Given the description of an element on the screen output the (x, y) to click on. 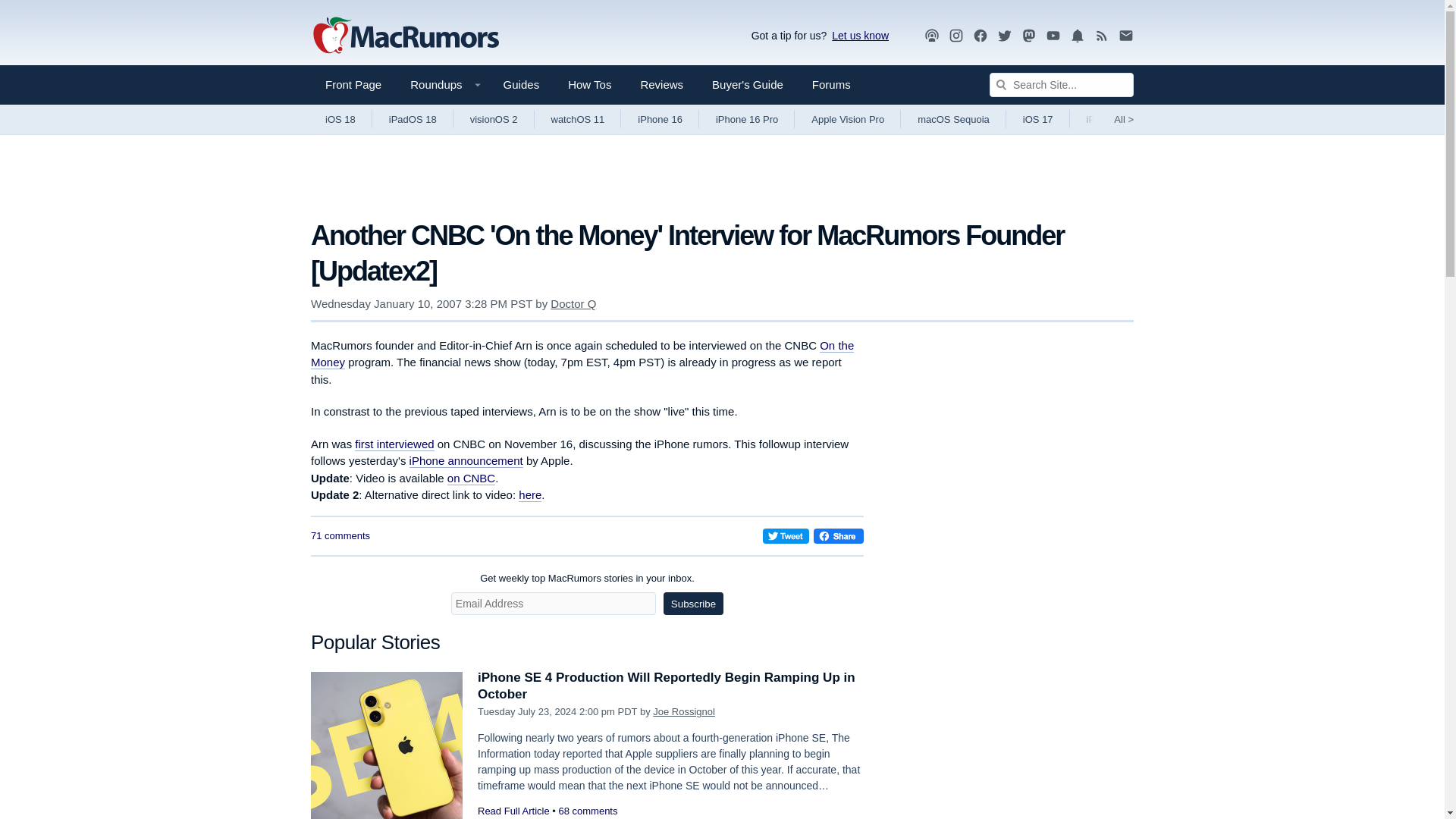
Guides (521, 84)
MacRumors on Instagram (956, 35)
Twitter (1004, 35)
Newsletter (1126, 35)
Front (353, 84)
MacRumors on Twitter (1004, 35)
Front Page (353, 84)
MacRumors RSS Feed (1101, 35)
Twitter (1004, 35)
RSS (1101, 35)
Buyer's Guide (747, 84)
Subscribe (693, 603)
MacRumors Newsletter Signup (1126, 35)
RSS (1101, 35)
Facebook (980, 35)
